Given the description of an element on the screen output the (x, y) to click on. 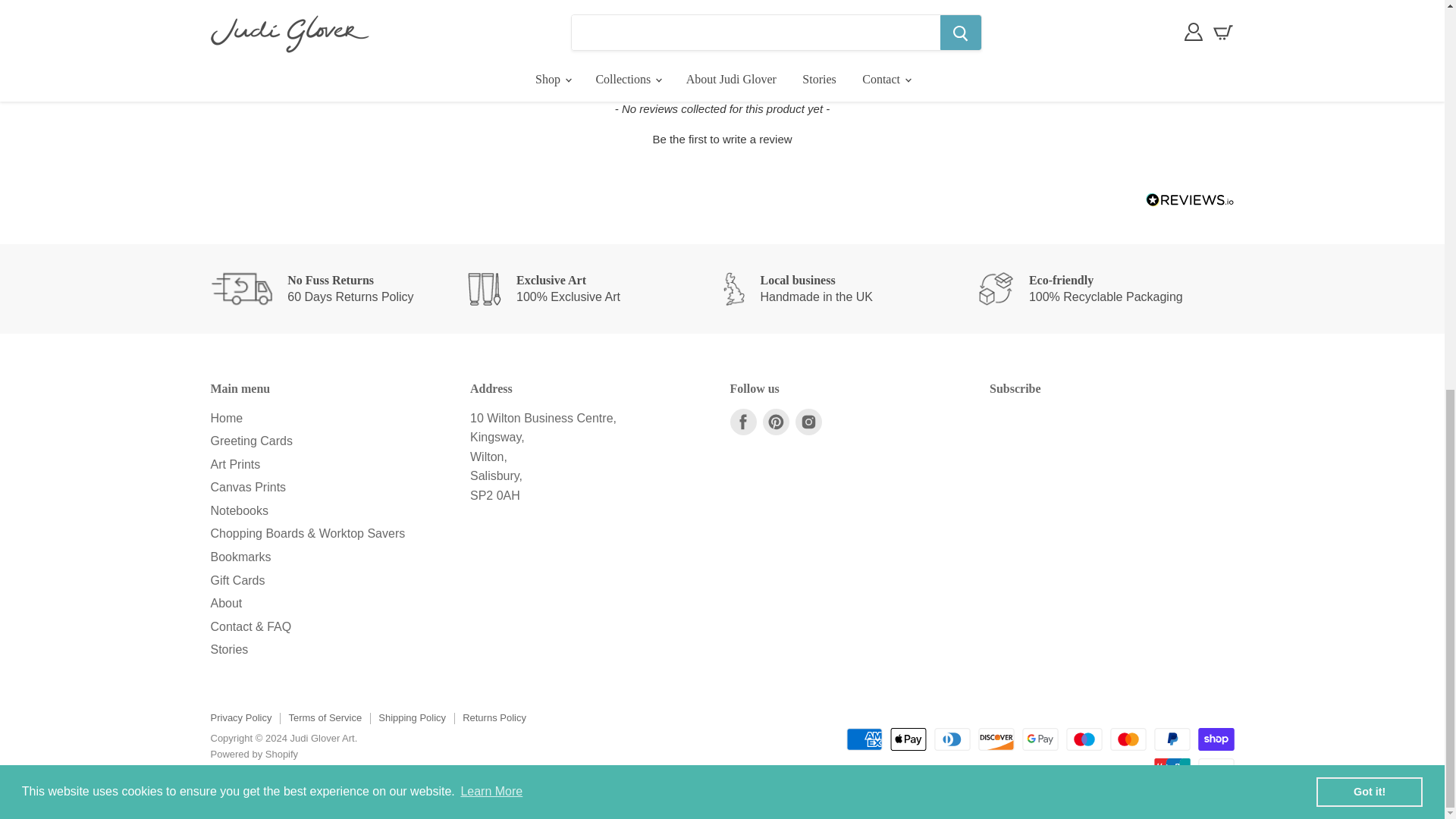
Diners Club (952, 739)
Apple Pay (907, 739)
Facebook (742, 421)
Pinterest (775, 421)
Instagram (807, 421)
American Express (863, 739)
Got it! (1369, 49)
Learn More (491, 48)
